Given the description of an element on the screen output the (x, y) to click on. 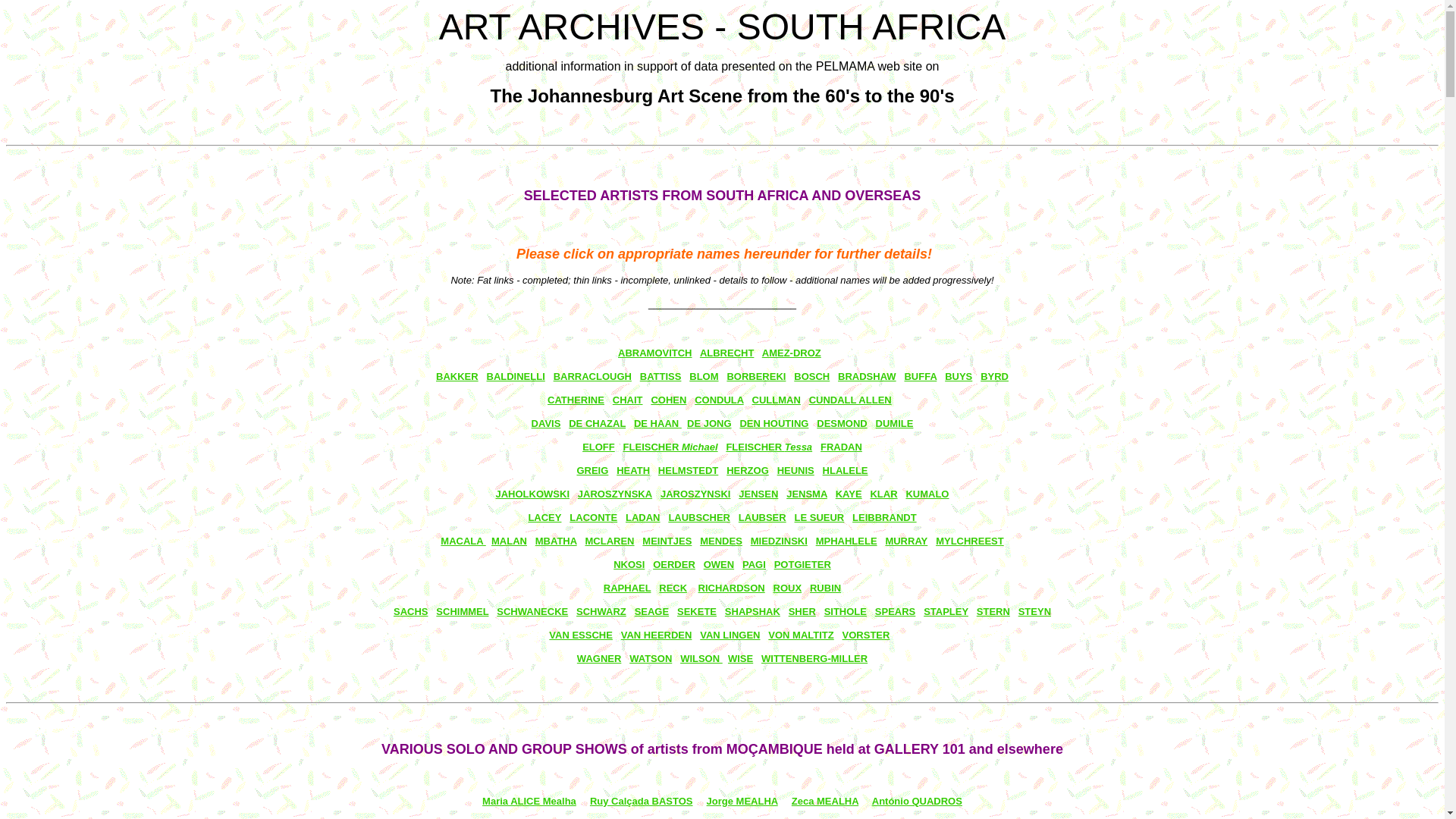
SCHWARZ Element type: text (601, 611)
LADAN Element type: text (642, 517)
BAKKER Element type: text (457, 376)
JAROSZYNSKA Element type: text (614, 493)
SHER Element type: text (801, 611)
ALBRECHT Element type: text (726, 352)
MEINTJES Element type: text (666, 540)
NKOSI Element type: text (628, 564)
BYRD Element type: text (994, 376)
MBATHA Element type: text (556, 540)
BALDINELLI Element type: text (515, 376)
CUNDALL ALLEN Element type: text (850, 399)
SPEARS Element type: text (895, 611)
JENSEN Element type: text (758, 493)
CONDULA Element type: text (718, 399)
BOSCH Element type: text (811, 376)
PAGI Element type: text (753, 564)
JAHOLKOWSKI Element type: text (532, 493)
FLEISCHER Michael Element type: text (670, 446)
WILSON Element type: text (701, 658)
DE CHAZAL Element type: text (596, 423)
KUMALO Element type: text (926, 493)
VAN LINGEN Element type: text (729, 634)
LAUBSCHER Element type: text (699, 517)
ELOFF Element type: text (598, 446)
STAPLEY Element type: text (945, 611)
JENSMA Element type: text (806, 493)
POTGIETER Element type: text (802, 564)
SHAPSHAK Element type: text (752, 611)
VON MALTITZ Element type: text (800, 634)
STEYN Element type: text (1034, 611)
CULLMAN Element type: text (776, 399)
MYLCHREEST Element type: text (969, 540)
MENDES Element type: text (720, 540)
BARRACLOUGH Element type: text (592, 376)
FLEISCHER Tessa Element type: text (768, 446)
MIEDZINSKI Element type: text (778, 540)
SCHIMMEL Element type: text (462, 611)
HERZOG Element type: text (747, 470)
RICHARDSON Element type: text (731, 587)
COHEN Element type: text (668, 399)
MURRAY Element type: text (905, 540)
OWEN Element type: text (718, 564)
DE JONG Element type: text (709, 423)
KLAR Element type: text (883, 493)
WATSON Element type: text (650, 658)
DE HAAN  Element type: text (657, 423)
SEKETE Element type: text (696, 611)
DAVIS Element type: text (546, 423)
LACEY Element type: text (544, 517)
VAN HEERDEN Element type: text (656, 634)
BRADSHAW Element type: text (866, 376)
LACONTE Element type: text (593, 517)
HEATH Element type: text (632, 470)
RAPHAEL Element type: text (627, 587)
VAN ESSCHE Element type: text (580, 634)
LAUBSER Element type: text (762, 517)
ROUX Element type: text (787, 587)
LE SUEUR Element type: text (819, 517)
HELMSTEDT Element type: text (688, 470)
Jorge MEALHA Element type: text (742, 800)
DEN HOUTING Element type: text (773, 423)
VORSTER Element type: text (866, 634)
RECK Element type: text (672, 587)
HEUNIS Element type: text (795, 470)
WAGNER Element type: text (599, 658)
MCLAREN Element type: text (609, 540)
SACHS Element type: text (410, 611)
AMEZ-DROZ Element type: text (791, 352)
WITTENBERG-MILLER Element type: text (814, 658)
BUFFA Element type: text (919, 376)
FRADAN Element type: text (841, 446)
SCHWANECKE Element type: text (531, 611)
CATHERINE Element type: text (575, 399)
CHAIT Element type: text (627, 399)
LEIBBRANDT Element type: text (884, 517)
JAROSZYNSKI Element type: text (695, 493)
BLOM Element type: text (703, 376)
MPHAHLELE Element type: text (846, 540)
OERDER Element type: text (673, 564)
GREIG Element type: text (592, 470)
BUYS Element type: text (958, 376)
WISE Element type: text (740, 658)
DUMILE Element type: text (894, 423)
MACALA  Element type: text (462, 540)
DESMOND Element type: text (841, 423)
ABRAMOVITCH Element type: text (655, 352)
Maria ALICE Mealha Element type: text (529, 800)
RUBIN Element type: text (824, 587)
Zeca MEALHA Element type: text (824, 800)
BATTISS Element type: text (660, 376)
MALAN Element type: text (509, 540)
BORBEREKI Element type: text (755, 376)
SEAGE Element type: text (651, 611)
HLALELE Element type: text (845, 470)
SITHOLE Element type: text (845, 611)
KAYE Element type: text (848, 493)
STERN Element type: text (993, 611)
